Given the description of an element on the screen output the (x, y) to click on. 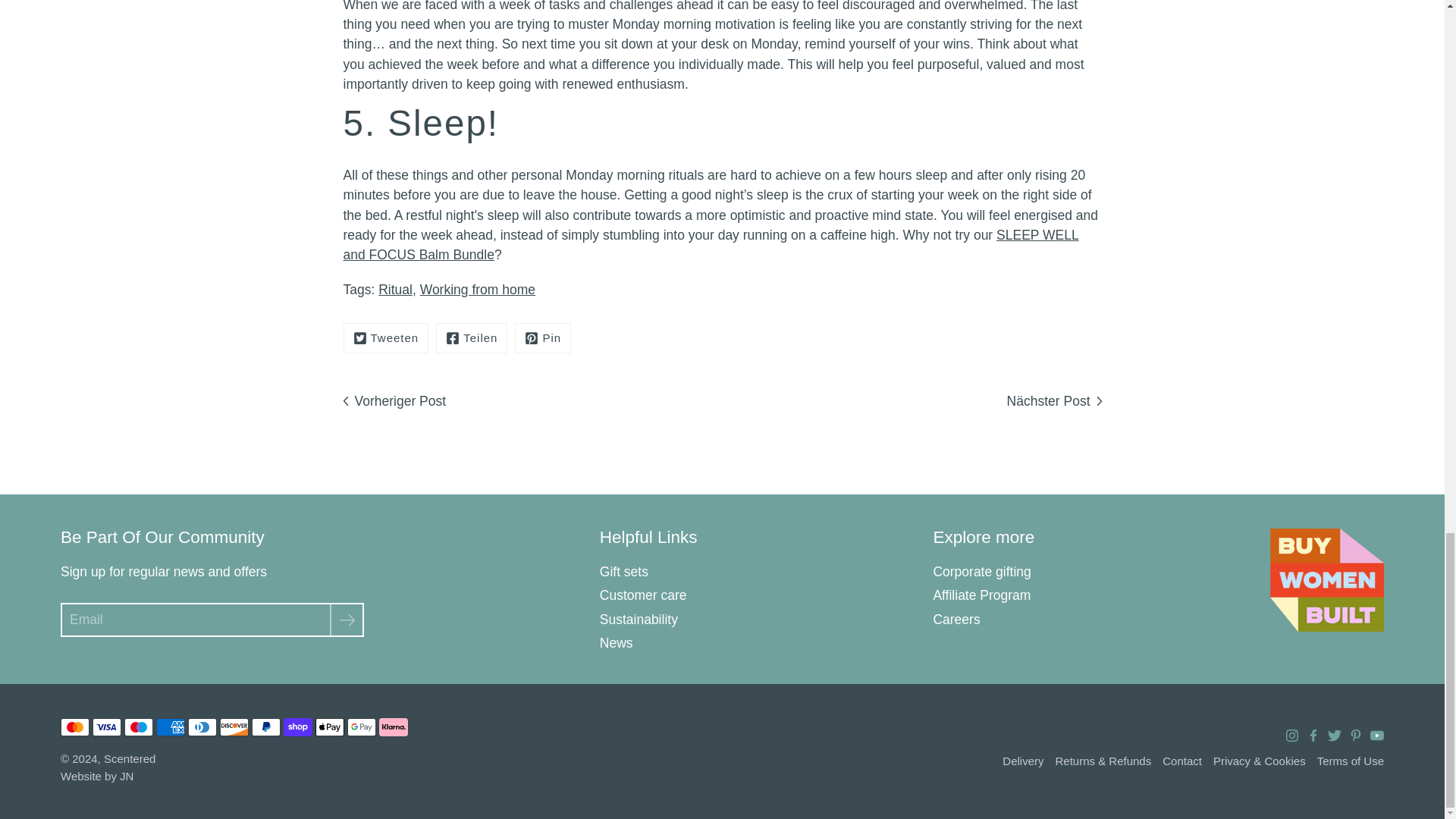
Maestro (137, 727)
Visa (106, 727)
Facebook (470, 337)
Mastercard (74, 727)
Twitter (385, 337)
Pinterest (542, 337)
